Given the description of an element on the screen output the (x, y) to click on. 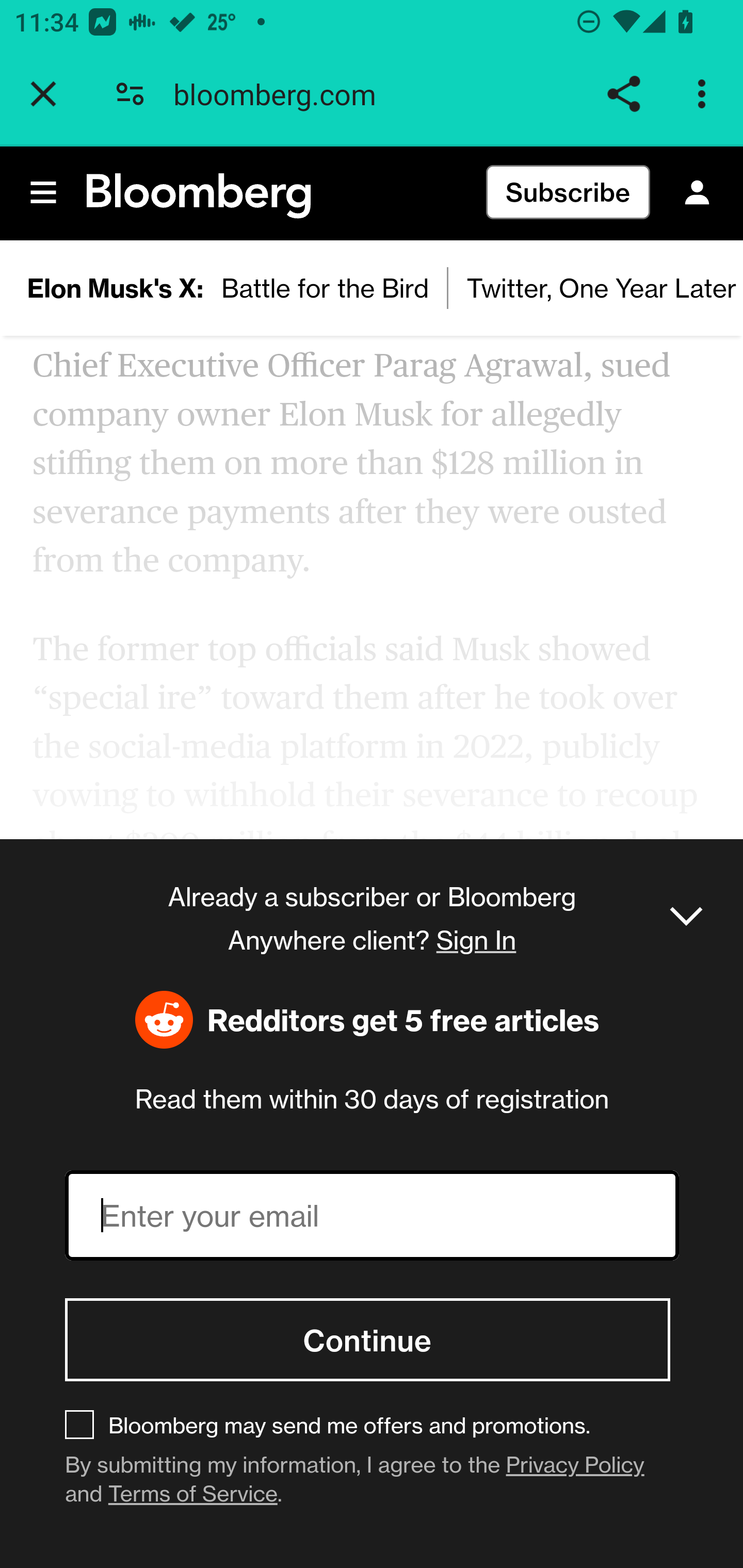
Close tab (43, 93)
Share (623, 93)
Customize and control Google Chrome (705, 93)
Connection is secure (129, 93)
bloomberg.com (281, 93)
Mobile Menu Button (44, 192)
Subscribe (567, 192)
Sign In (696, 192)
Bloomberg (199, 196)
Battle for the Bird (325, 288)
Twitter, One Year Later (595, 288)
